Given the description of an element on the screen output the (x, y) to click on. 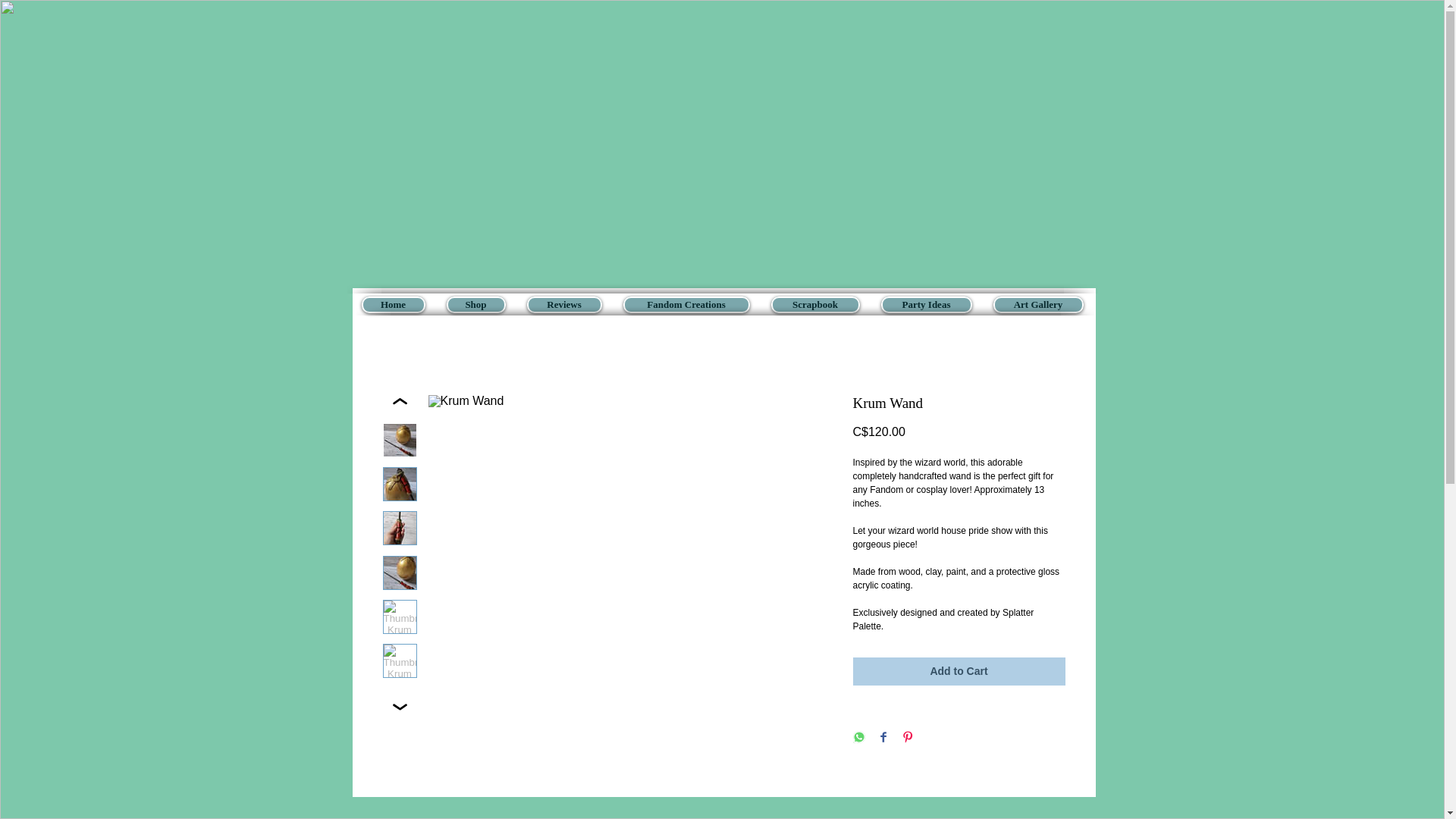
Art Gallery (1037, 304)
Add to Cart (957, 671)
Reviews (563, 304)
Scrapbook (814, 304)
Home (393, 304)
Fandom Creations (686, 304)
